Given the description of an element on the screen output the (x, y) to click on. 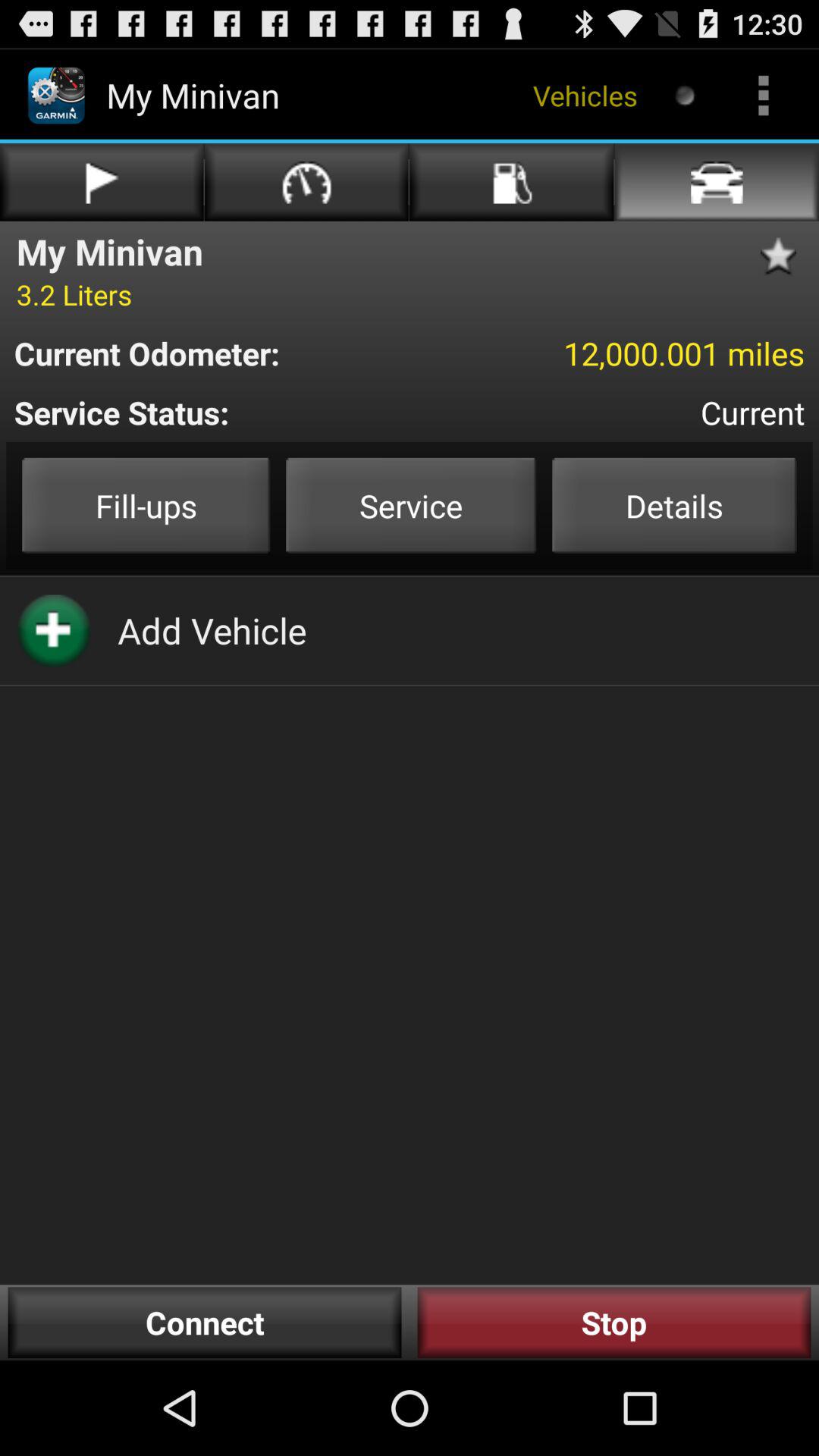
scroll until the 3.2 liters icon (73, 294)
